Given the description of an element on the screen output the (x, y) to click on. 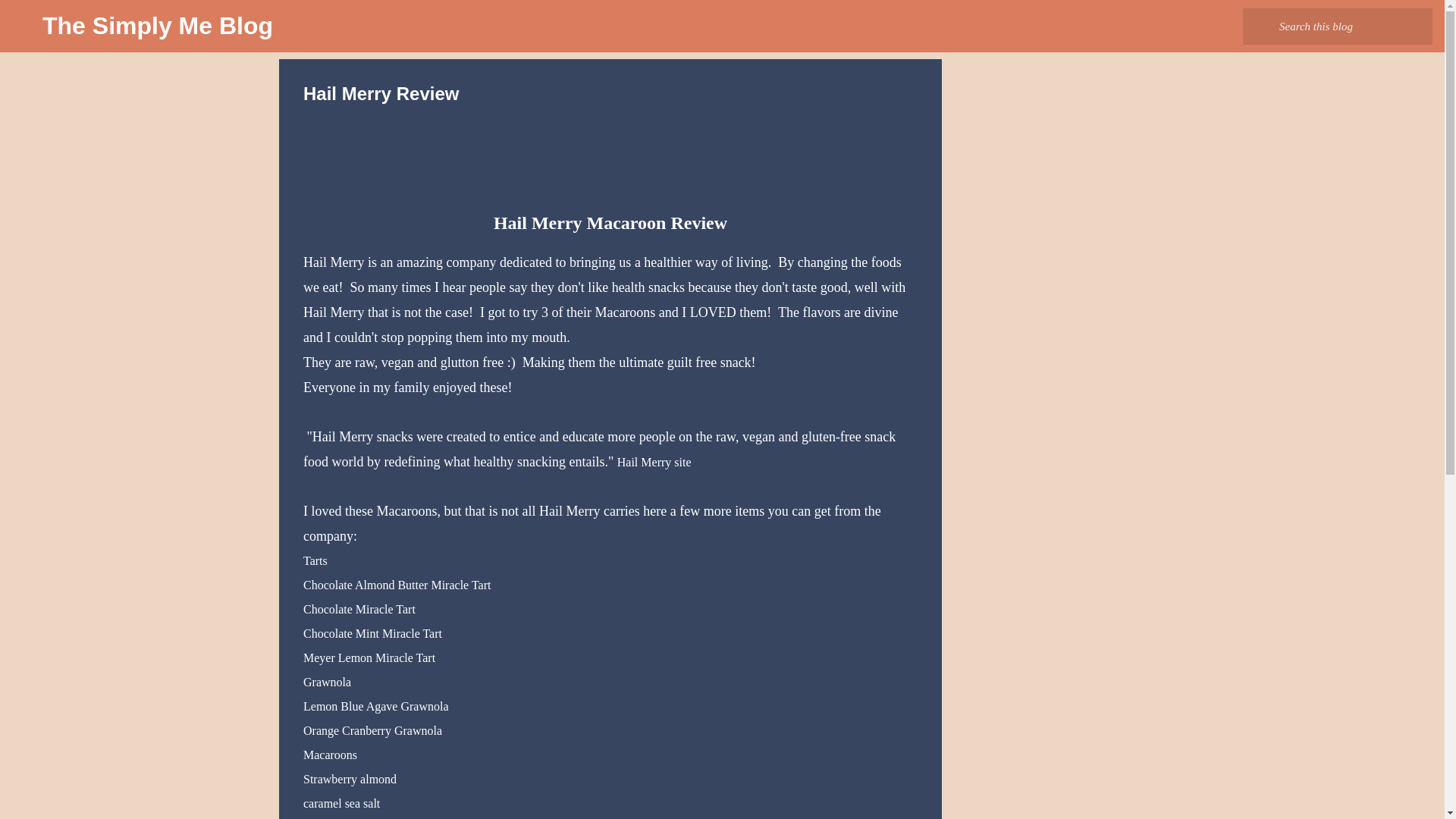
The Simply Me Blog (157, 25)
